Given the description of an element on the screen output the (x, y) to click on. 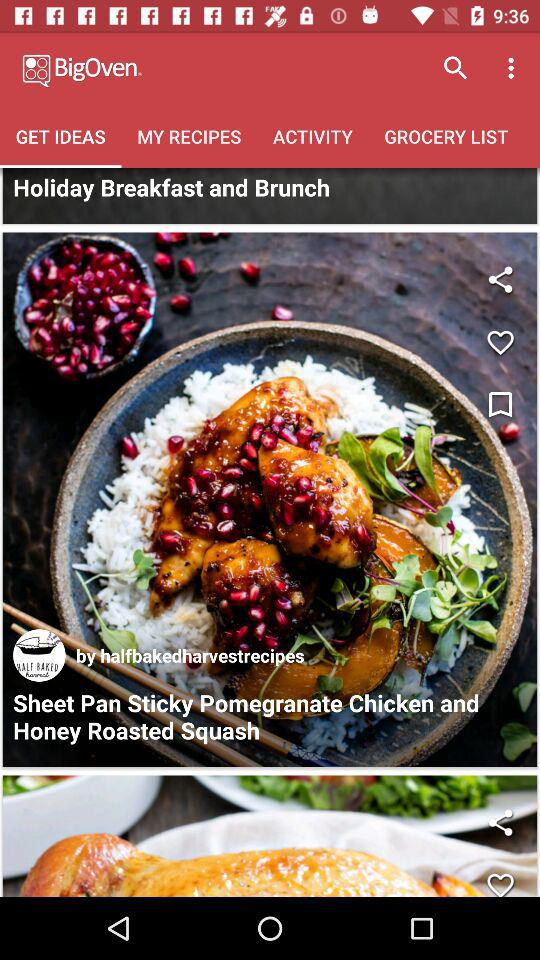
share (500, 822)
